Given the description of an element on the screen output the (x, y) to click on. 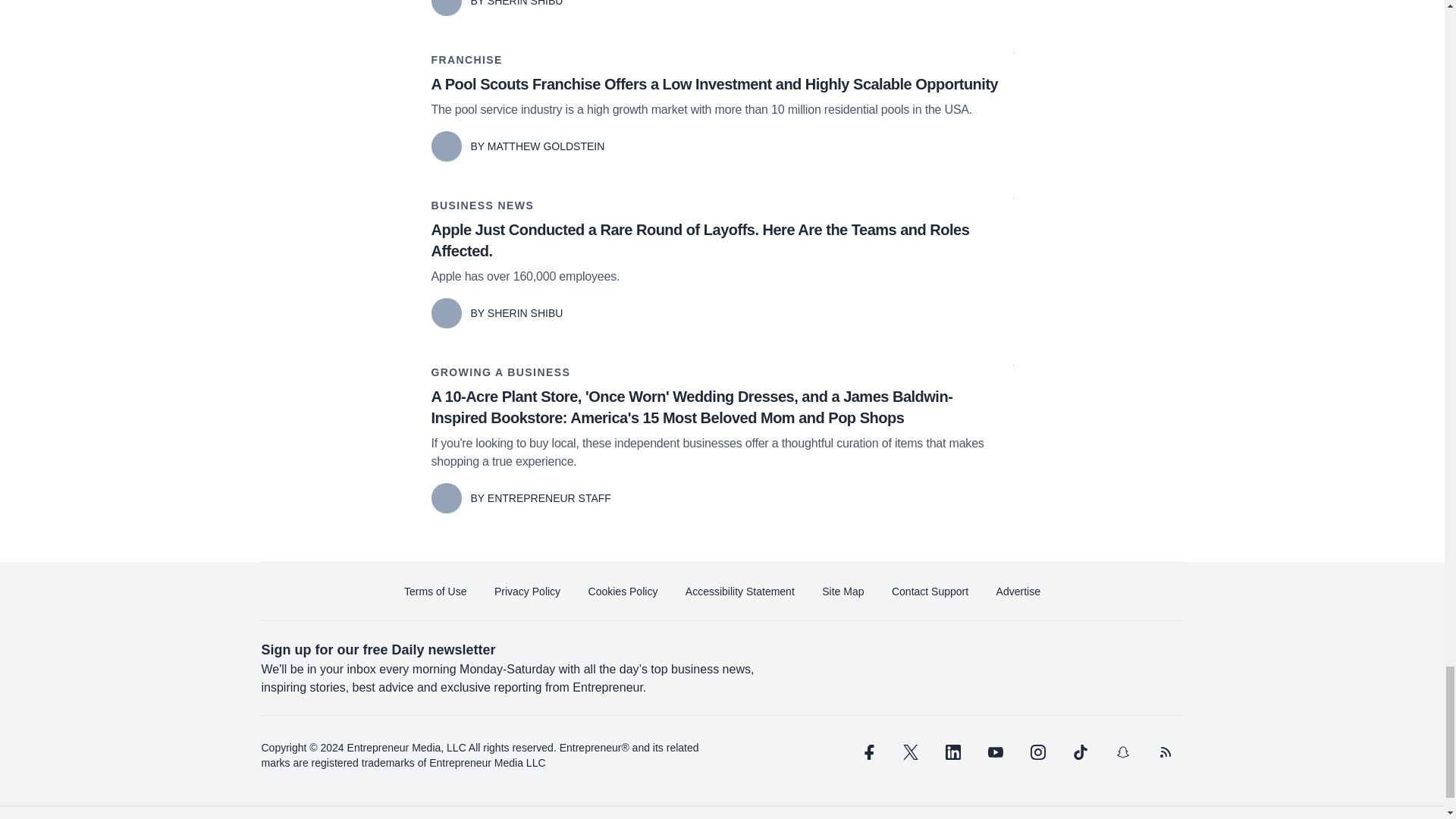
linkedin (952, 751)
tiktok (1079, 751)
instagram (1037, 751)
twitter (909, 751)
snapchat (1121, 751)
facebook (866, 751)
youtube (994, 751)
